Given the description of an element on the screen output the (x, y) to click on. 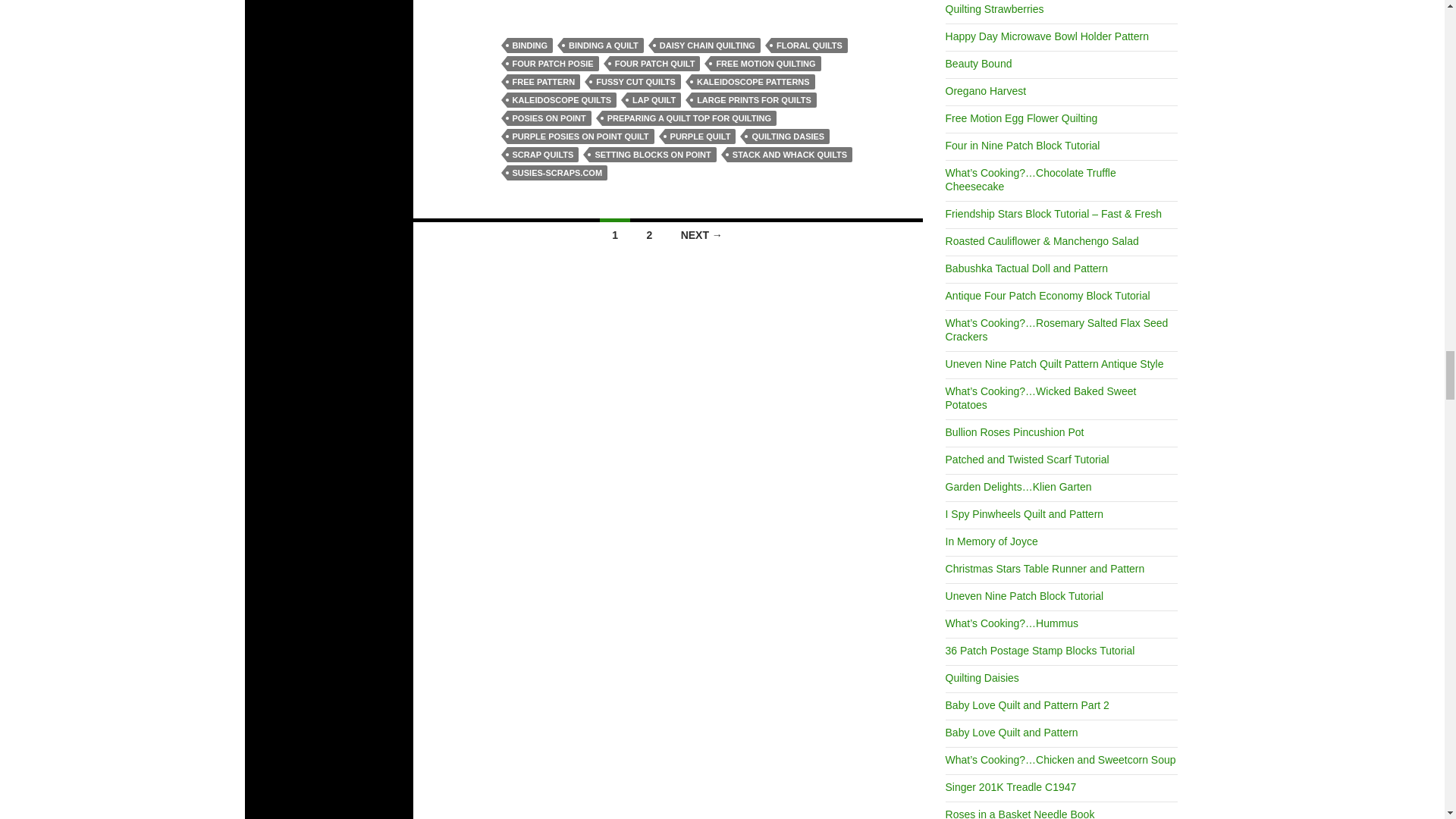
FUSSY CUT QUILTS (636, 81)
FOUR PATCH POSIE (552, 63)
BINDING A QUILT (603, 45)
DAISY CHAIN QUILTING (706, 45)
FREE PATTERN (542, 81)
KALEIDOSCOPE QUILTS (560, 99)
LAP QUILT (654, 99)
FREE MOTION QUILTING (765, 63)
BINDING (528, 45)
FLORAL QUILTS (809, 45)
KALEIDOSCOPE PATTERNS (753, 81)
LARGE PRINTS FOR QUILTS (753, 99)
FOUR PATCH QUILT (655, 63)
